Given the description of an element on the screen output the (x, y) to click on. 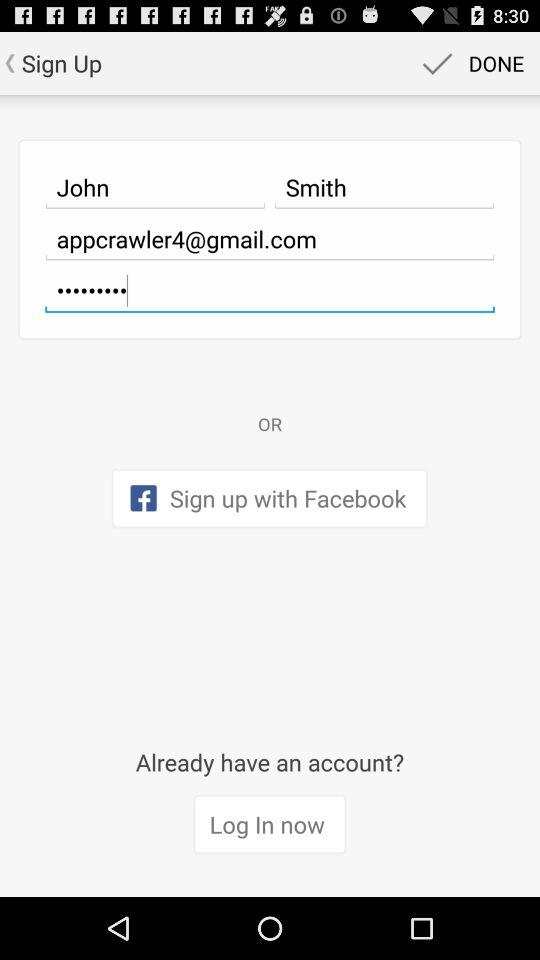
turn off done item (470, 62)
